Given the description of an element on the screen output the (x, y) to click on. 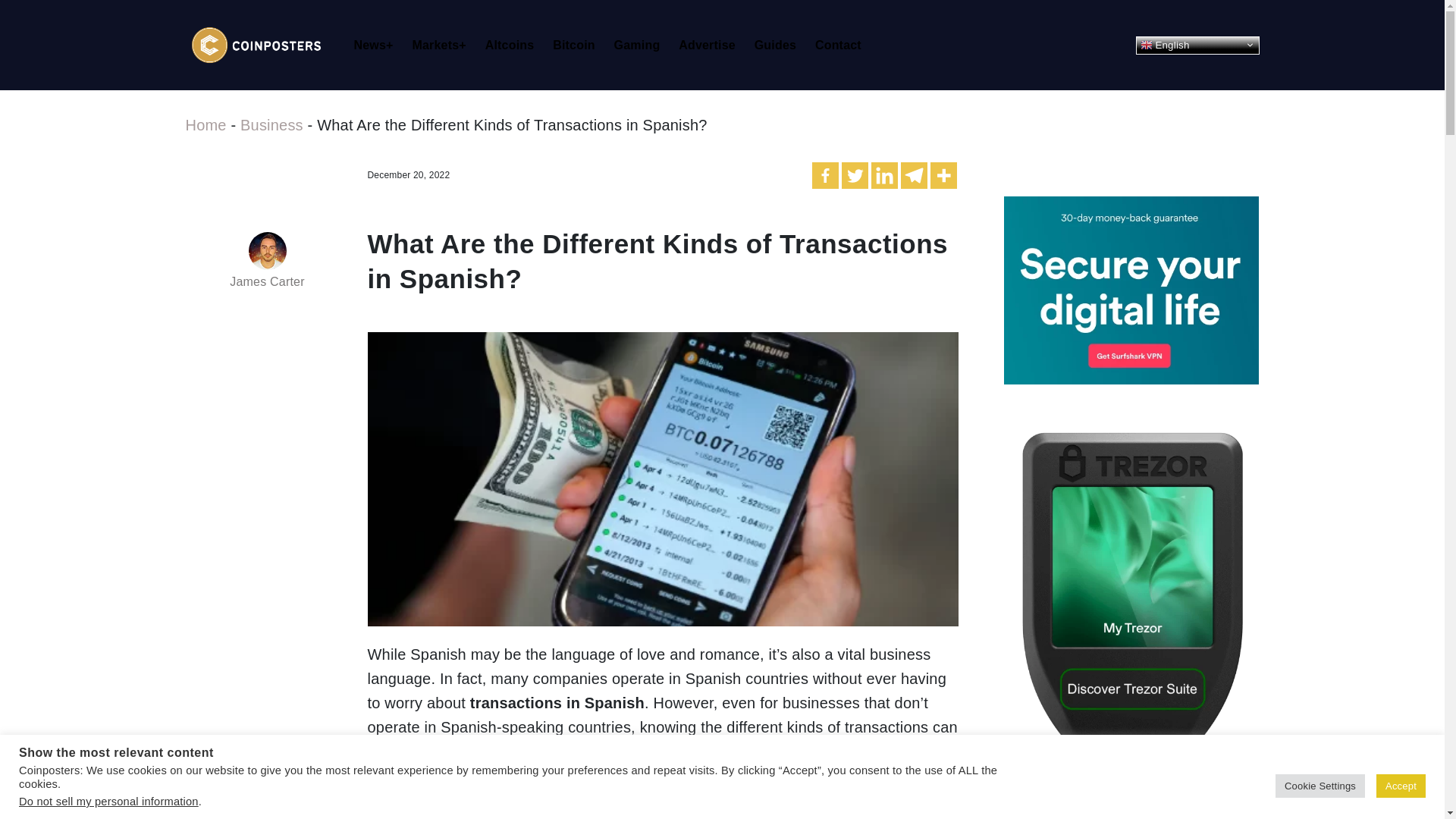
More (943, 175)
Bitcoin (578, 45)
Gaming (641, 45)
Altcoins (514, 45)
Telegram (914, 175)
Home (204, 125)
Business (271, 125)
Guides (780, 45)
Twitter (854, 175)
Contact (842, 45)
English (1197, 45)
Facebook (825, 175)
Linkedin (884, 175)
Advertise (711, 45)
